Given the description of an element on the screen output the (x, y) to click on. 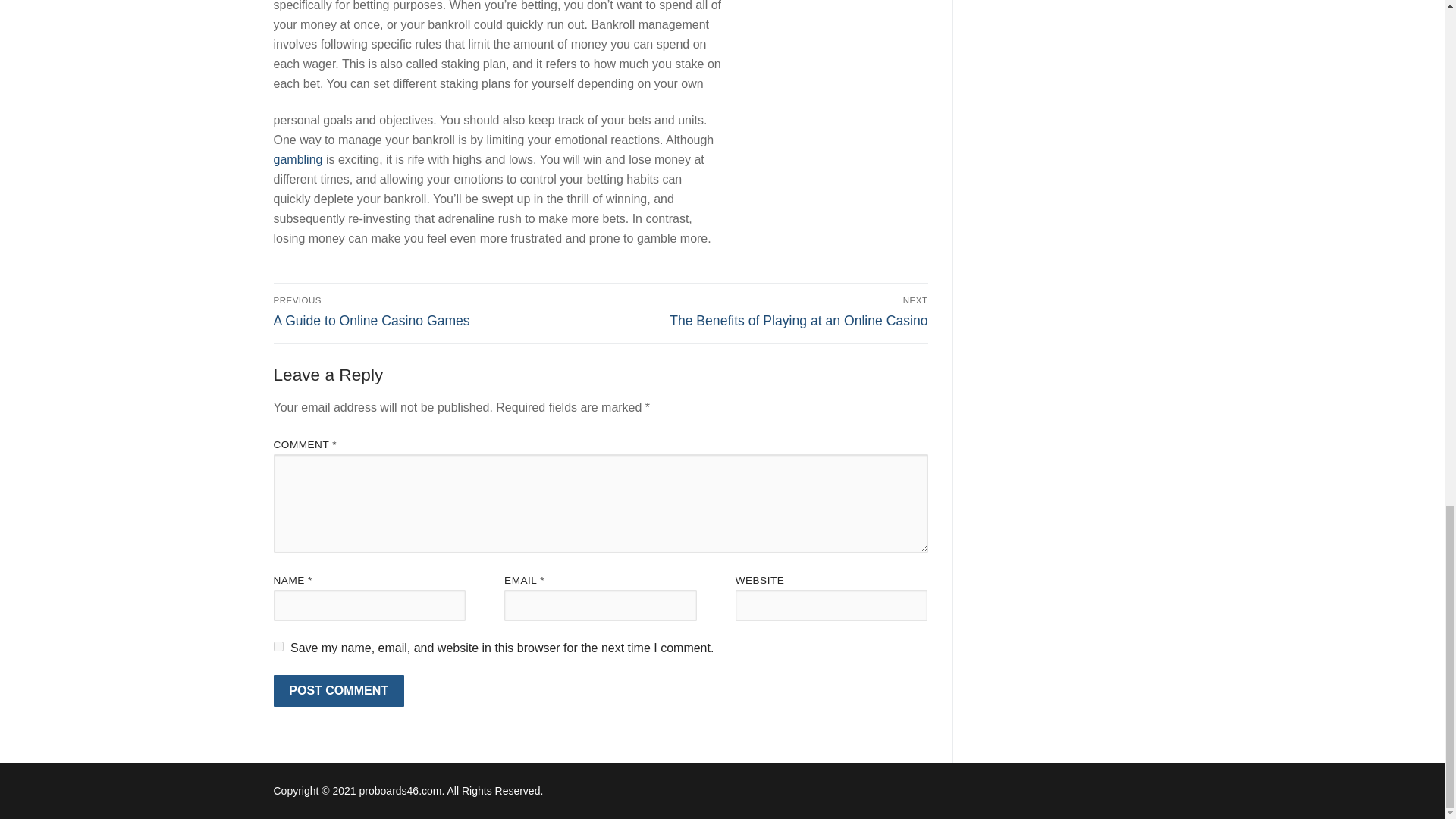
Post Comment (338, 690)
yes (277, 646)
Post Comment (767, 311)
gambling (433, 311)
